Given the description of an element on the screen output the (x, y) to click on. 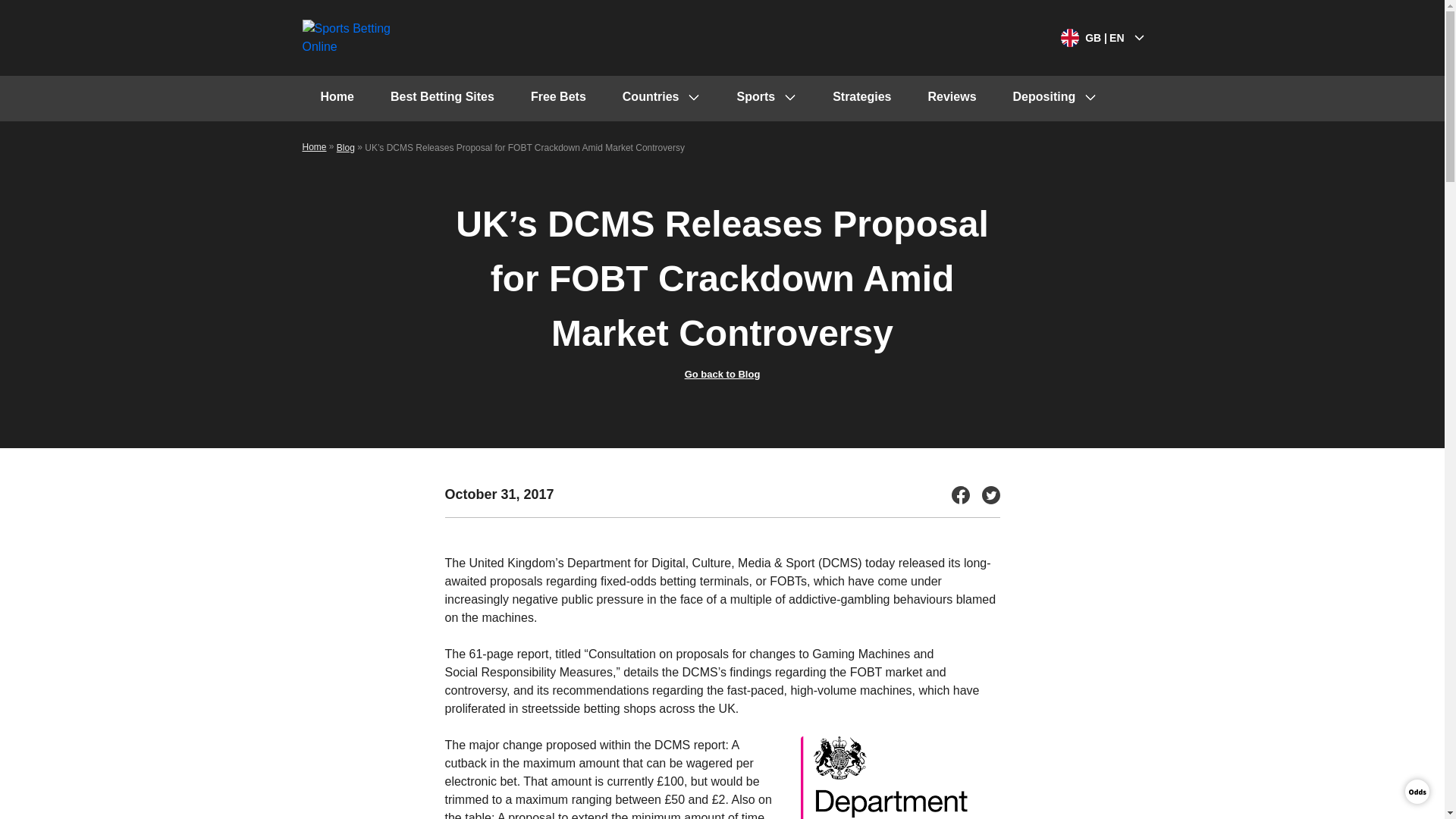
Strategies (860, 98)
Countries (661, 98)
Depositing (1054, 98)
Best Betting Sites (442, 98)
Free Bets (558, 98)
Sports (765, 98)
Home (336, 98)
Reviews (952, 98)
